Given the description of an element on the screen output the (x, y) to click on. 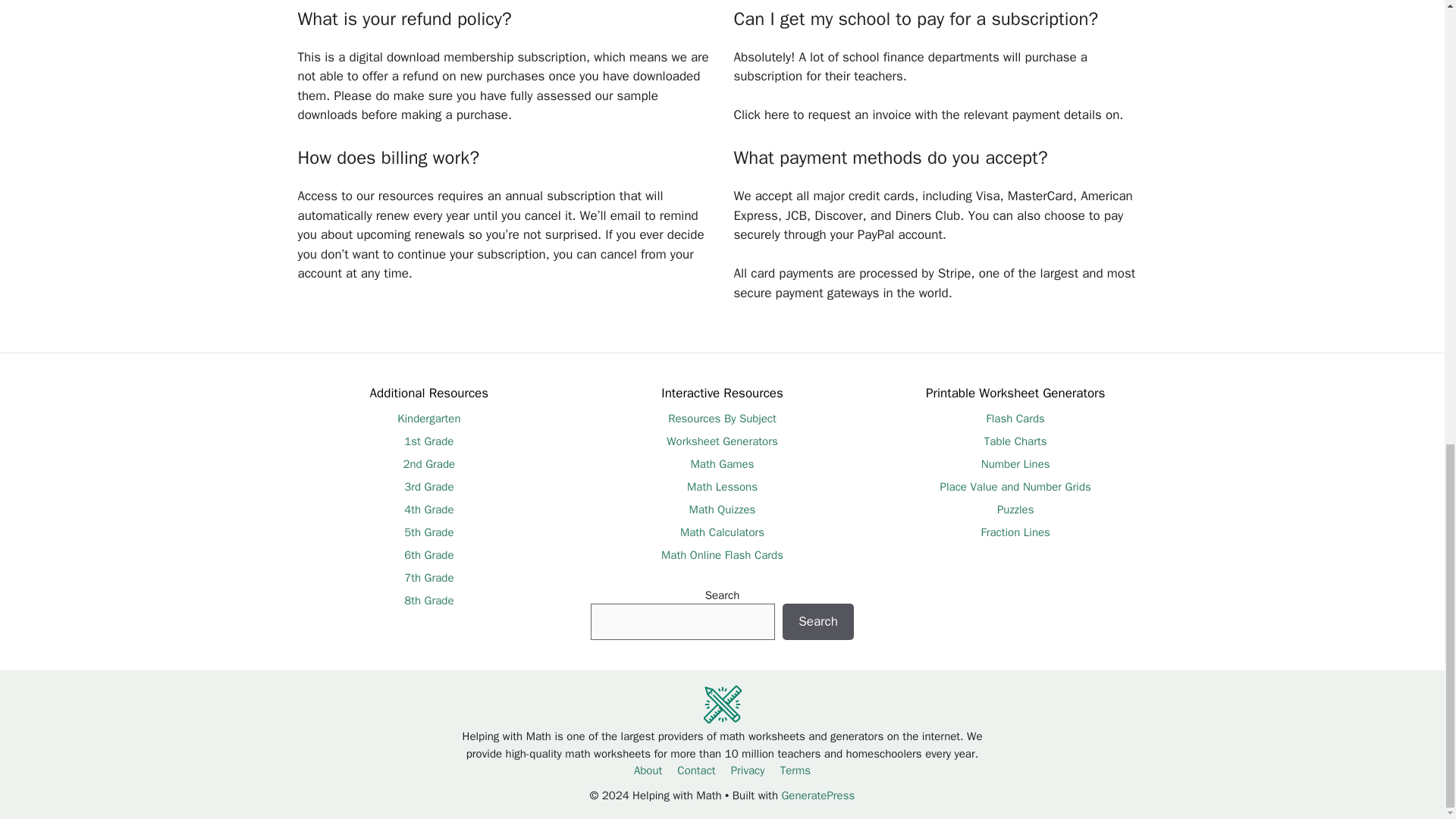
Resources By Subject (722, 418)
Fraction Lines (1014, 531)
Search (818, 621)
5th Grade (428, 531)
Number Lines (1015, 463)
Contact (695, 770)
Kindergarten (428, 418)
GeneratePress (817, 795)
Place Value and Number Grids (1015, 486)
Puzzles (1015, 509)
3rd Grade (428, 486)
4th Grade (428, 509)
Table Charts (1015, 440)
Math Calculators (721, 531)
6th Grade (428, 554)
